Given the description of an element on the screen output the (x, y) to click on. 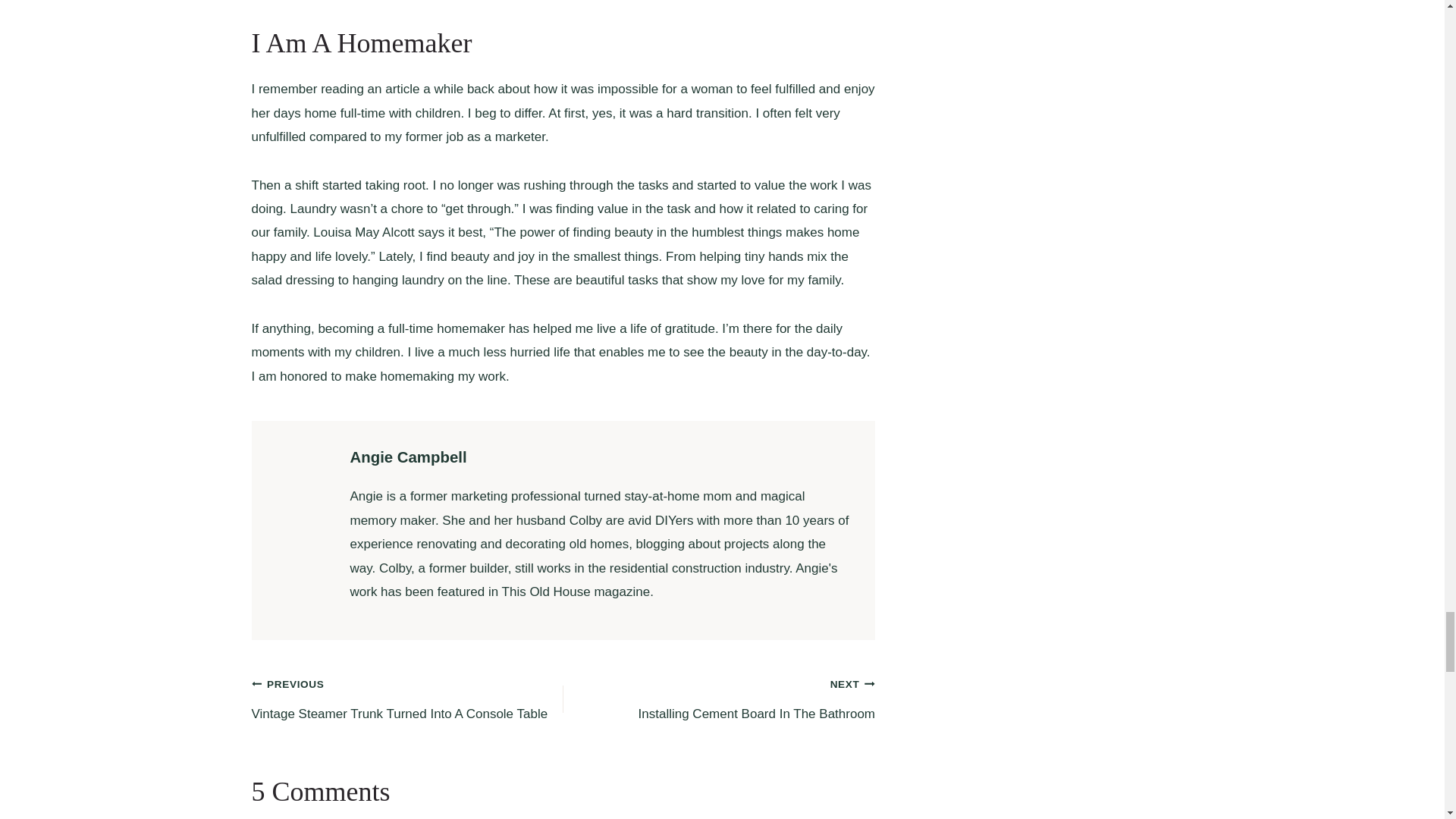
Posts by Angie Campbell (408, 457)
